Given the description of an element on the screen output the (x, y) to click on. 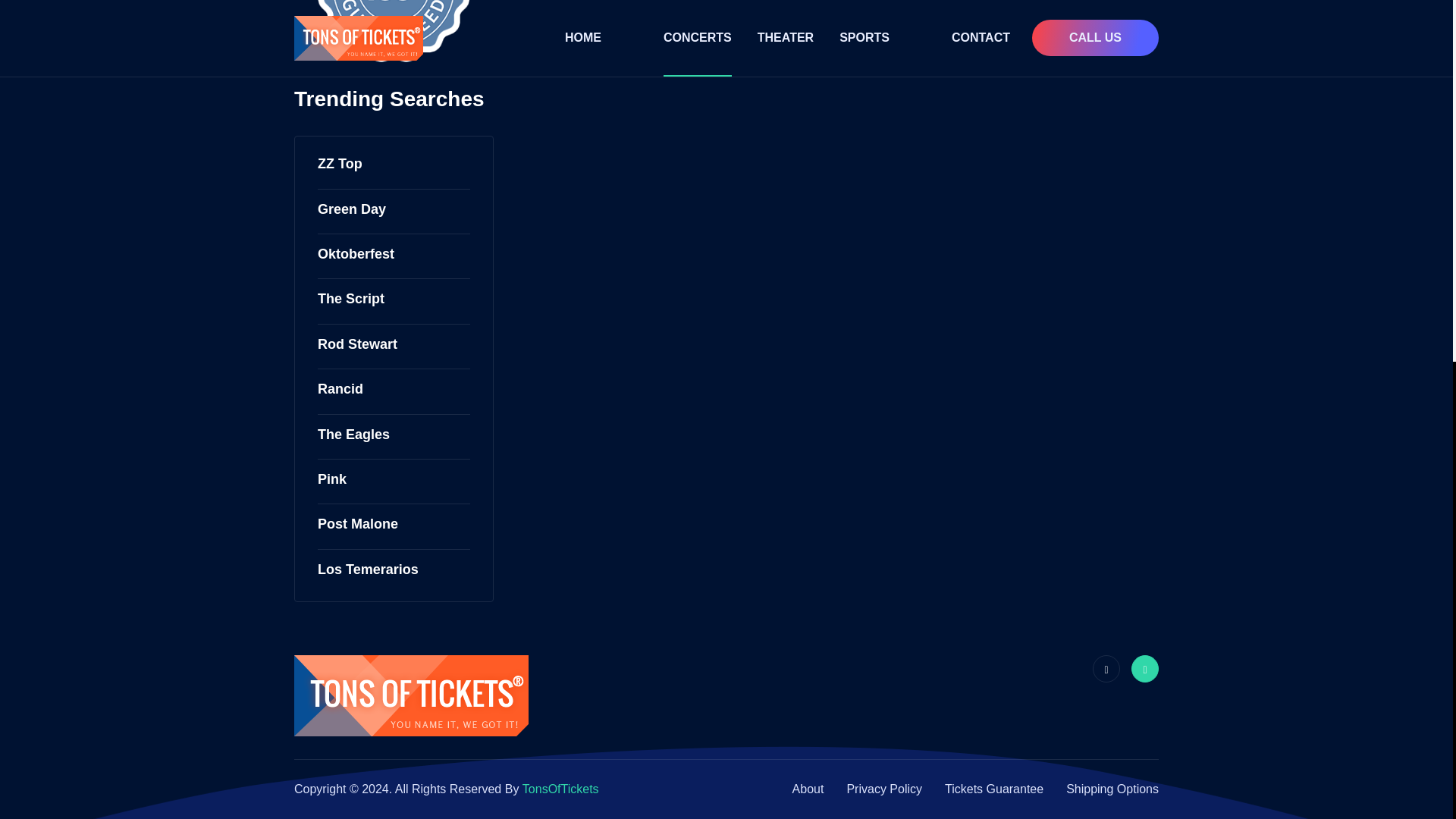
The Script (350, 298)
Rod Stewart (357, 343)
Privacy Policy (883, 789)
Rancid (339, 389)
About (808, 789)
Pink (331, 479)
Oktoberfest (355, 253)
The Eagles (353, 434)
Tickets Guarantee (993, 789)
TonsOfTickets (560, 789)
